Given the description of an element on the screen output the (x, y) to click on. 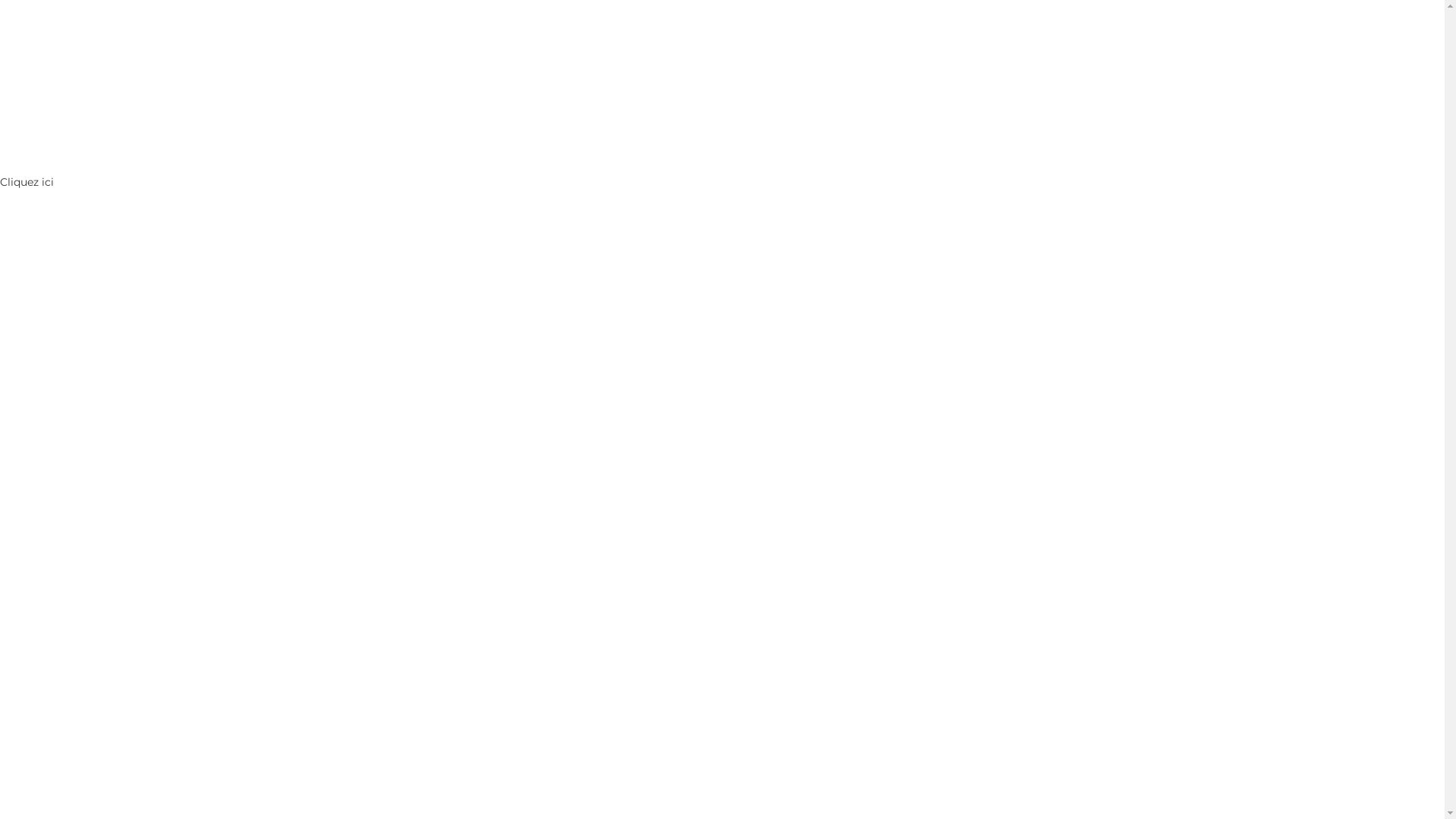
Cliquez ici Element type: text (26, 181)
Logo Blanc Element type: hover (722, 48)
